Given the description of an element on the screen output the (x, y) to click on. 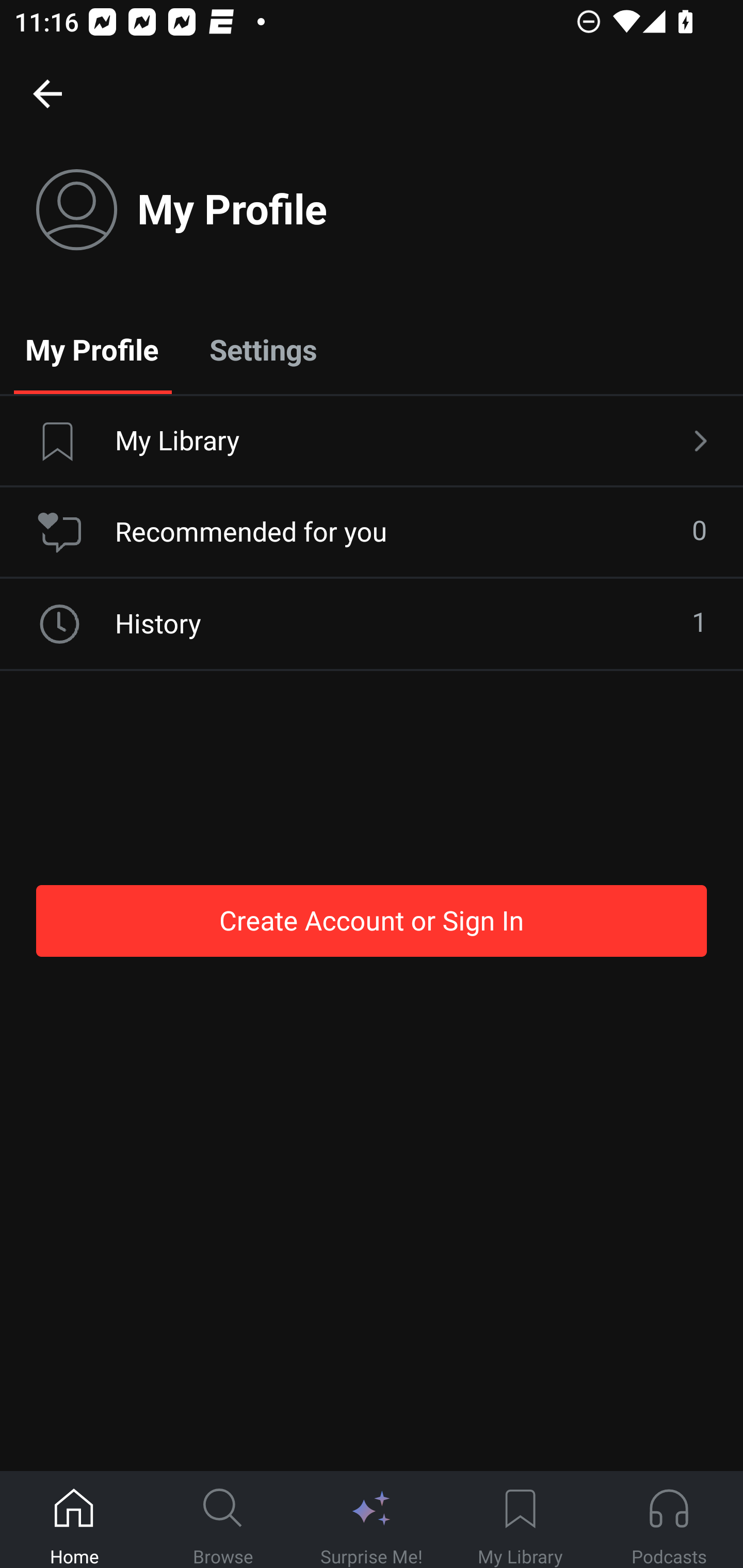
Home, back (47, 92)
My Profile (92, 348)
Settings (263, 348)
My Library (371, 441)
Recommended for you 0 (371, 532)
History 1 (371, 623)
Create Account or Sign In (371, 920)
Home (74, 1520)
Browse (222, 1520)
Surprise Me! (371, 1520)
My Library (519, 1520)
Podcasts (668, 1520)
